Given the description of an element on the screen output the (x, y) to click on. 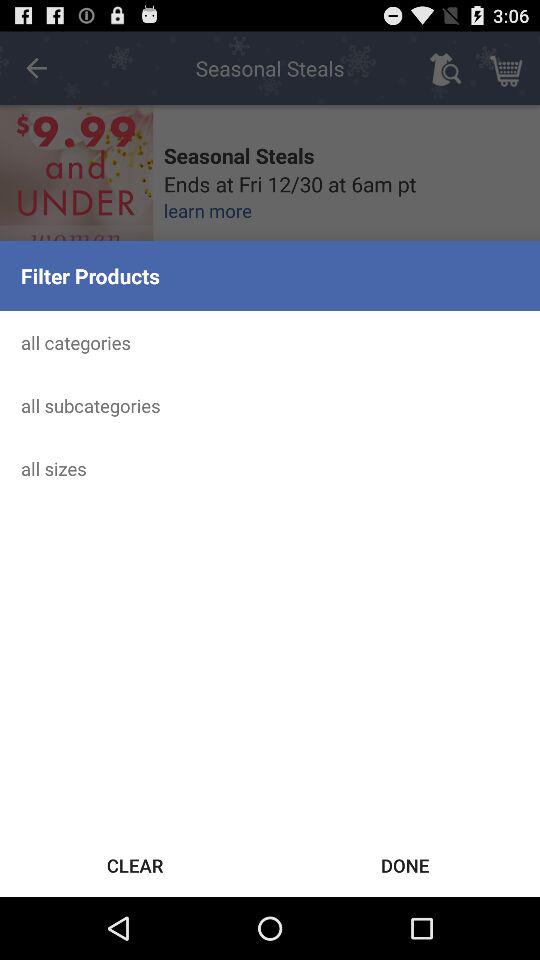
turn on the icon next to the clear icon (405, 864)
